Given the description of an element on the screen output the (x, y) to click on. 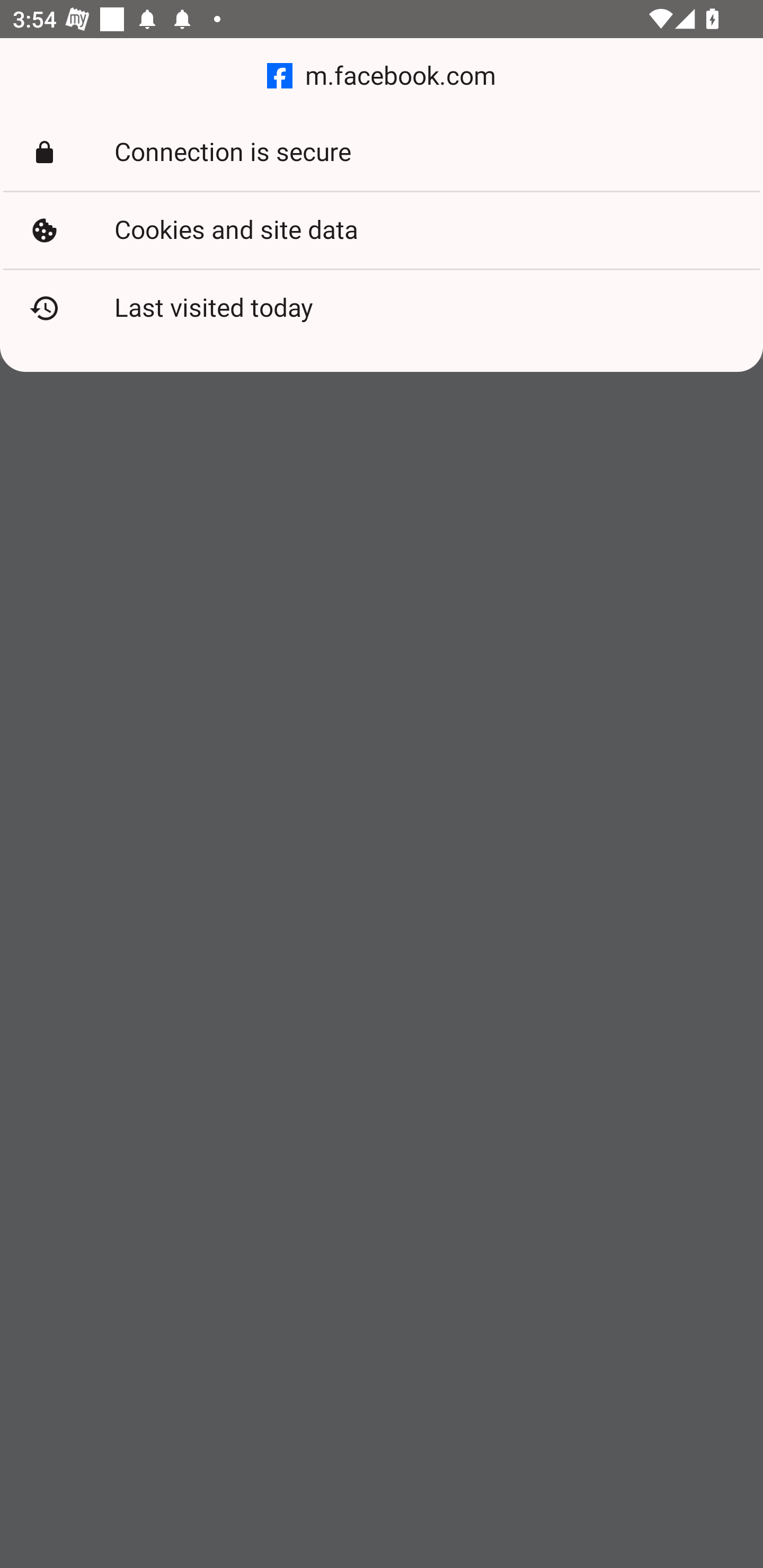
m.facebook.com (381, 75)
Connection is secure (381, 152)
Cookies and site data (381, 230)
Last visited today (381, 307)
